Given the description of an element on the screen output the (x, y) to click on. 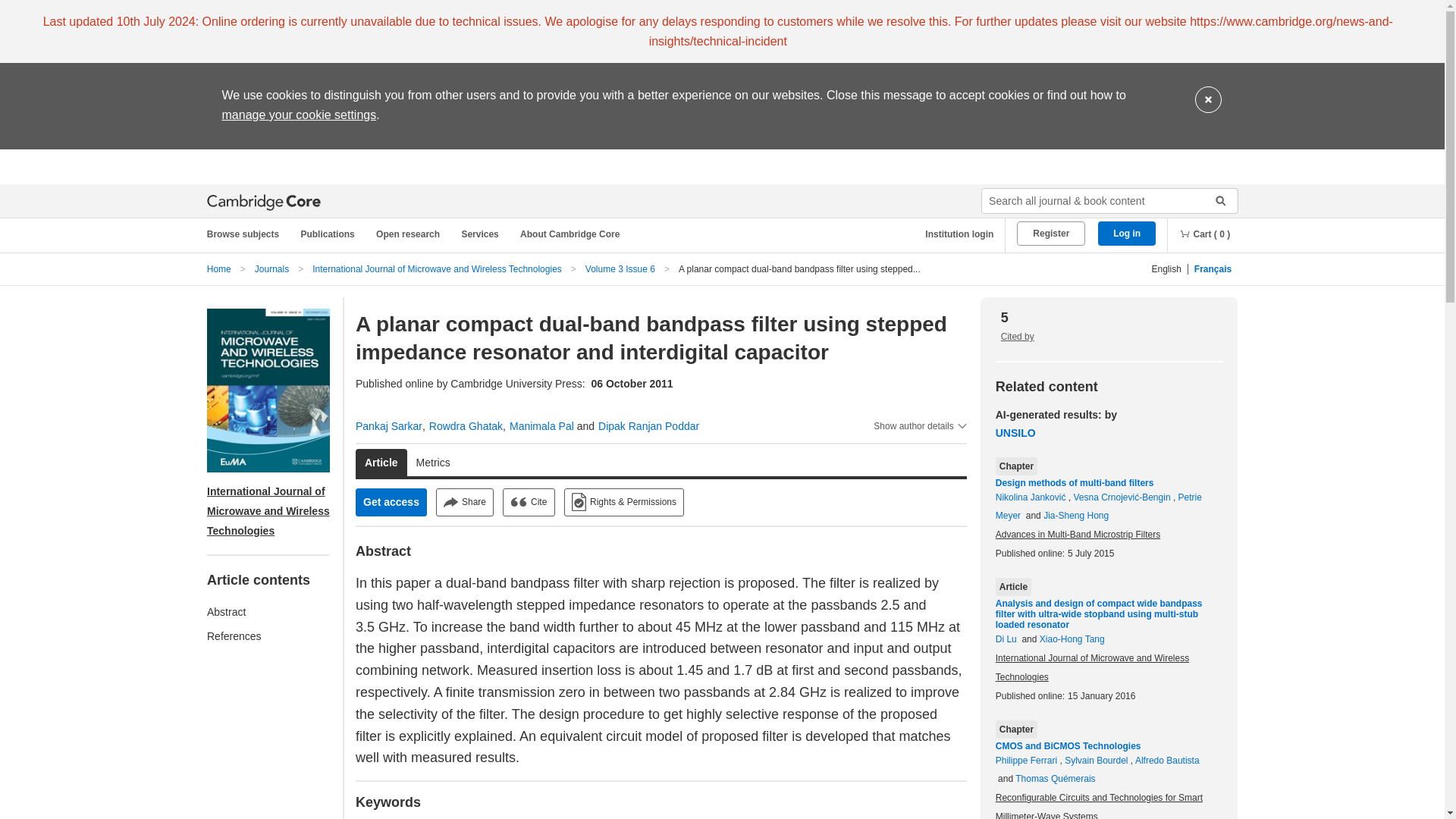
Register (1050, 233)
Institution login (953, 234)
Browse subjects (250, 234)
manage your cookie settings (298, 114)
Open research (410, 234)
About Cambridge Core (572, 234)
Submit search (1214, 200)
Services (482, 234)
Submit search (1214, 200)
Publications (330, 234)
Close cookie message (1208, 99)
